Given the description of an element on the screen output the (x, y) to click on. 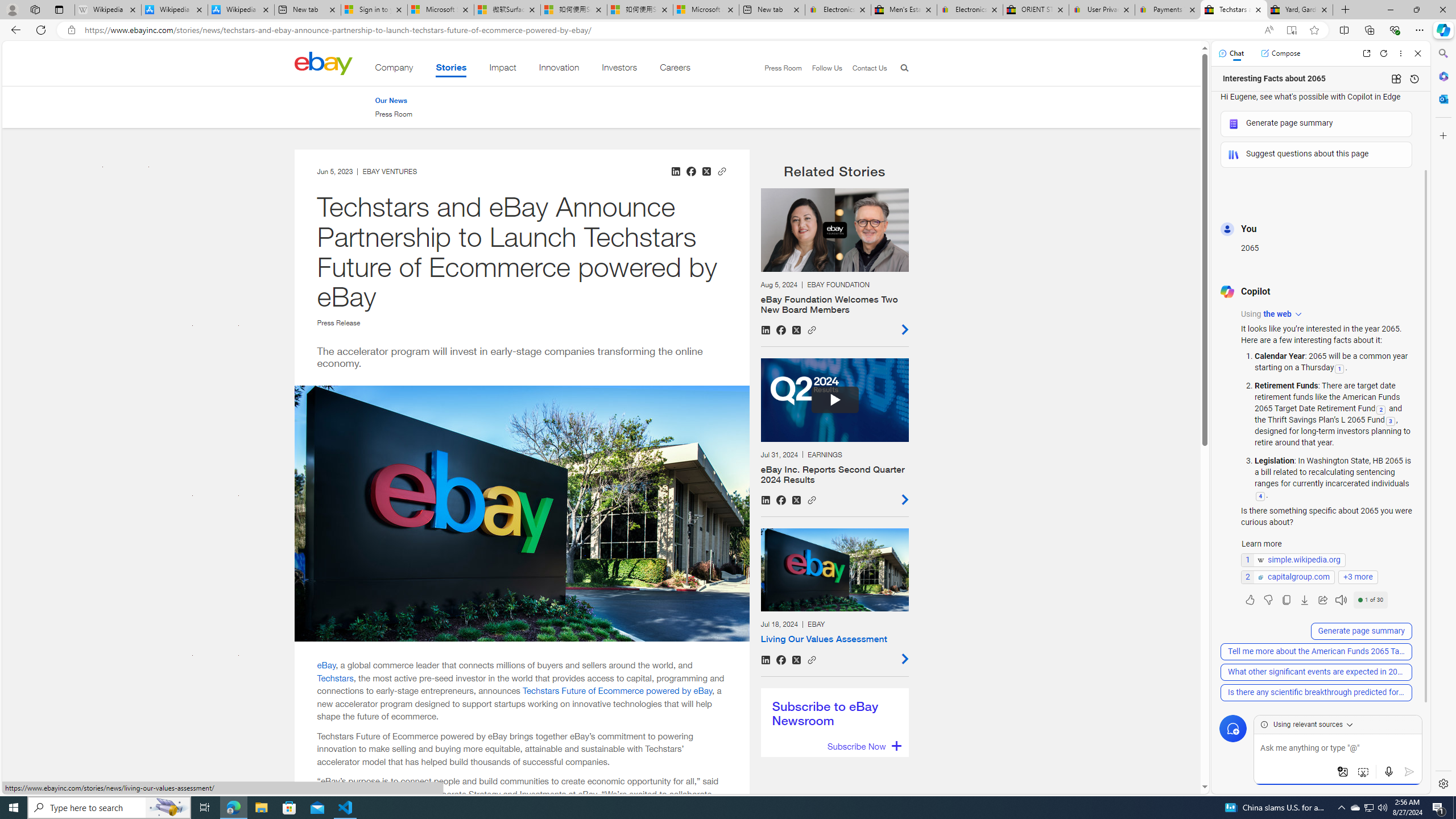
Follow Us (821, 68)
AutomationID: Group_1_1_ (834, 399)
Press Room (393, 113)
Yard, Garden & Outdoor Living (1300, 9)
Payments Terms of Use | eBay.com (1167, 9)
Play video (834, 400)
Article: eBay Foundation Welcomes Two New Board Members (834, 261)
